Given the description of an element on the screen output the (x, y) to click on. 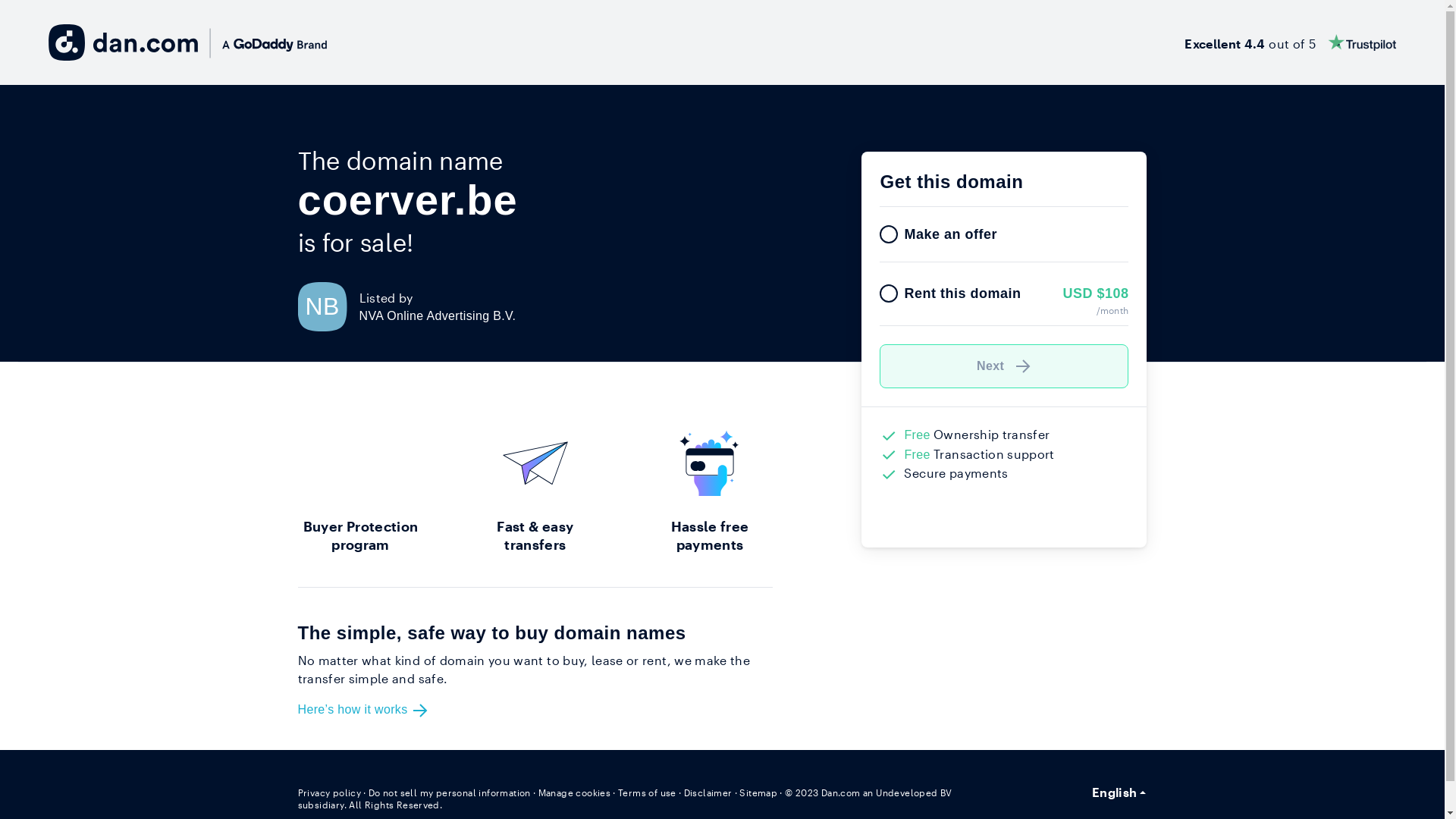
Manage cookies Element type: text (574, 792)
Excellent 4.4 out of 5 Element type: text (1290, 42)
Sitemap Element type: text (758, 792)
Terms of use Element type: text (647, 792)
Disclaimer Element type: text (708, 792)
Do not sell my personal information Element type: text (449, 792)
Next
) Element type: text (1003, 366)
Privacy policy Element type: text (328, 792)
English Element type: text (1119, 792)
